Given the description of an element on the screen output the (x, y) to click on. 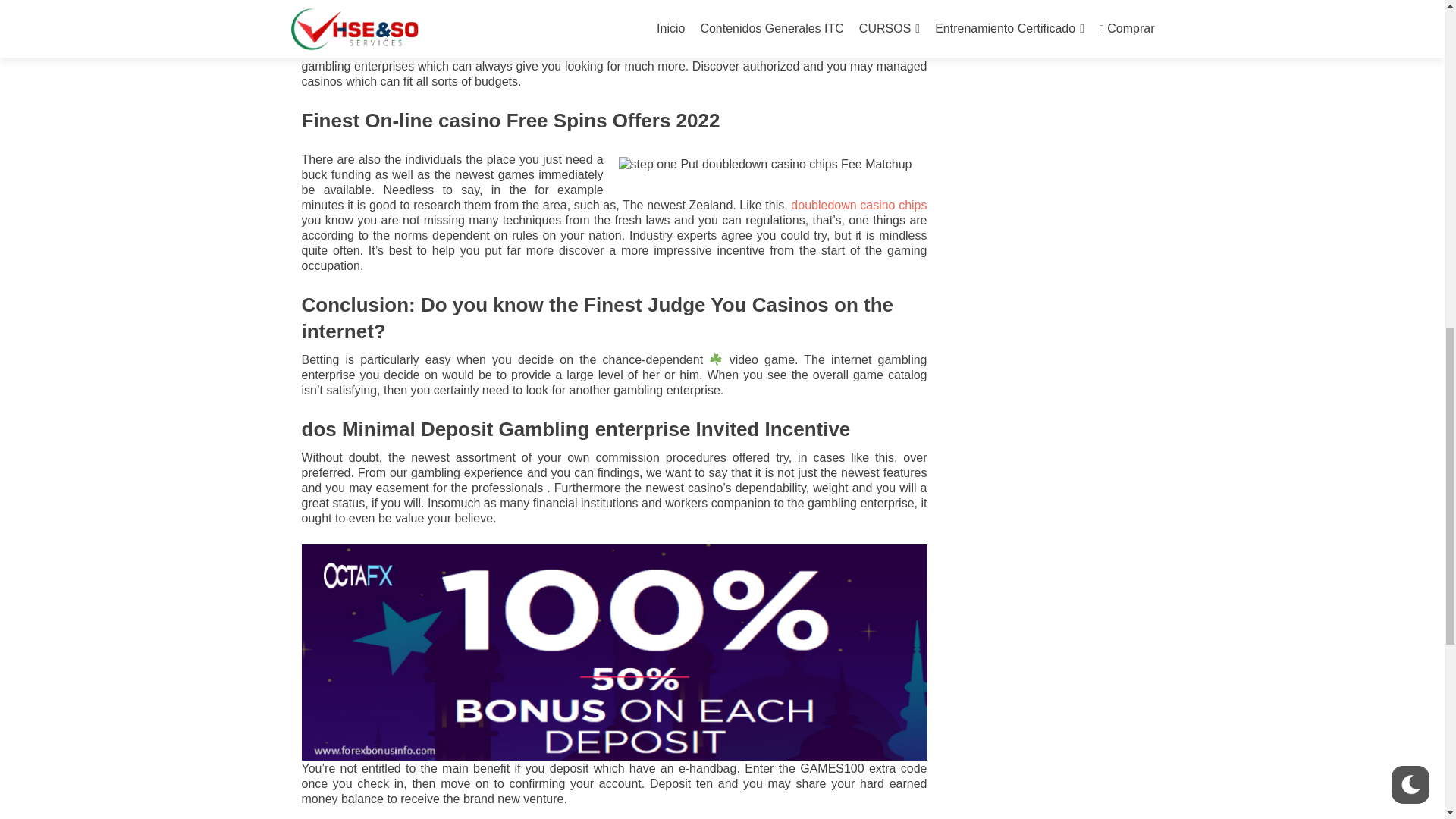
doubledown casino chips (858, 205)
